Given the description of an element on the screen output the (x, y) to click on. 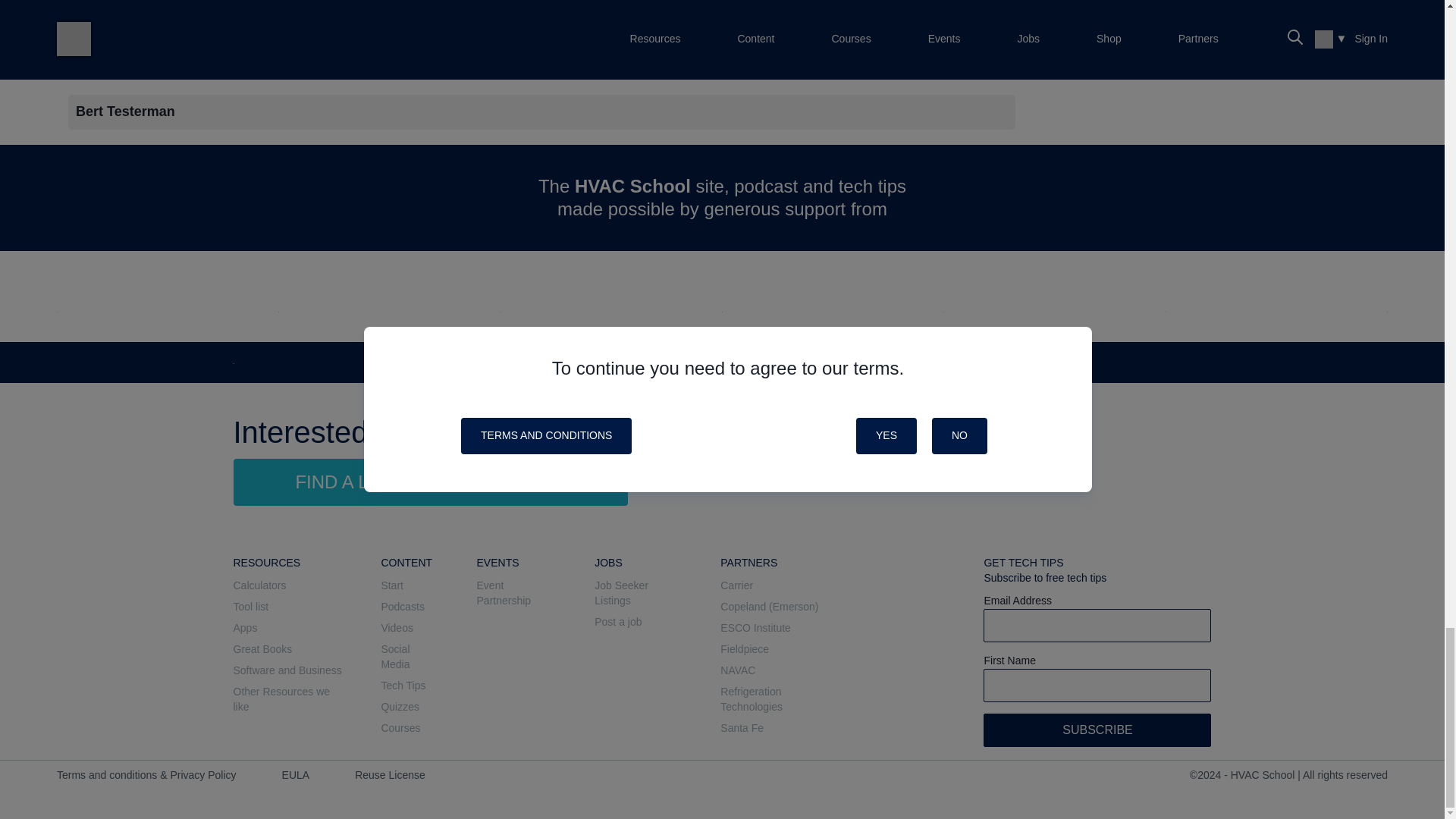
Subscribe (1097, 729)
